Given the description of an element on the screen output the (x, y) to click on. 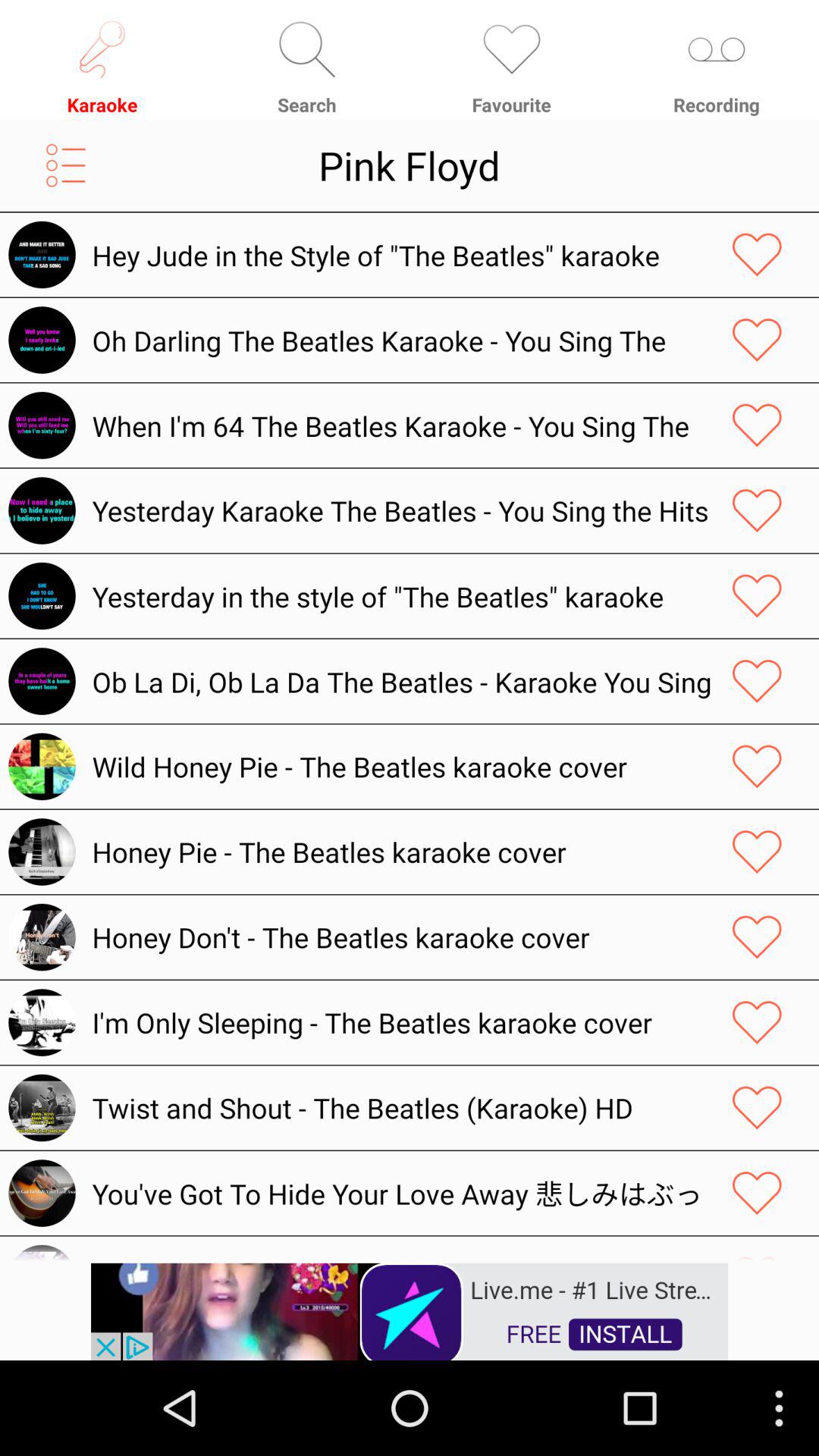
like to music (756, 339)
